Given the description of an element on the screen output the (x, y) to click on. 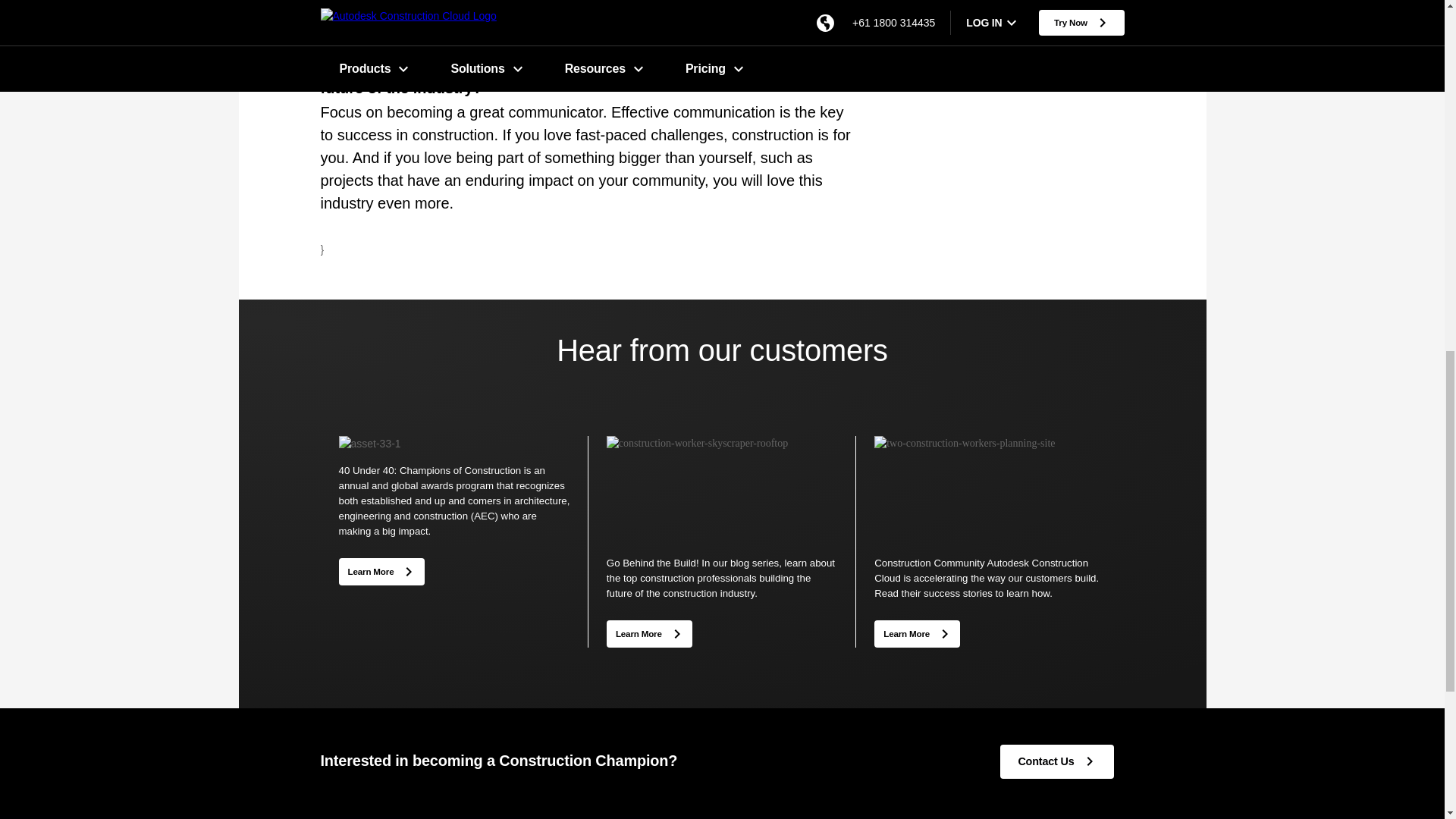
Learn More (917, 633)
Learn More (650, 632)
Learn More (650, 633)
Contact Us (1055, 761)
Learn More (917, 632)
Learn More (380, 571)
Learn More (380, 570)
